Given the description of an element on the screen output the (x, y) to click on. 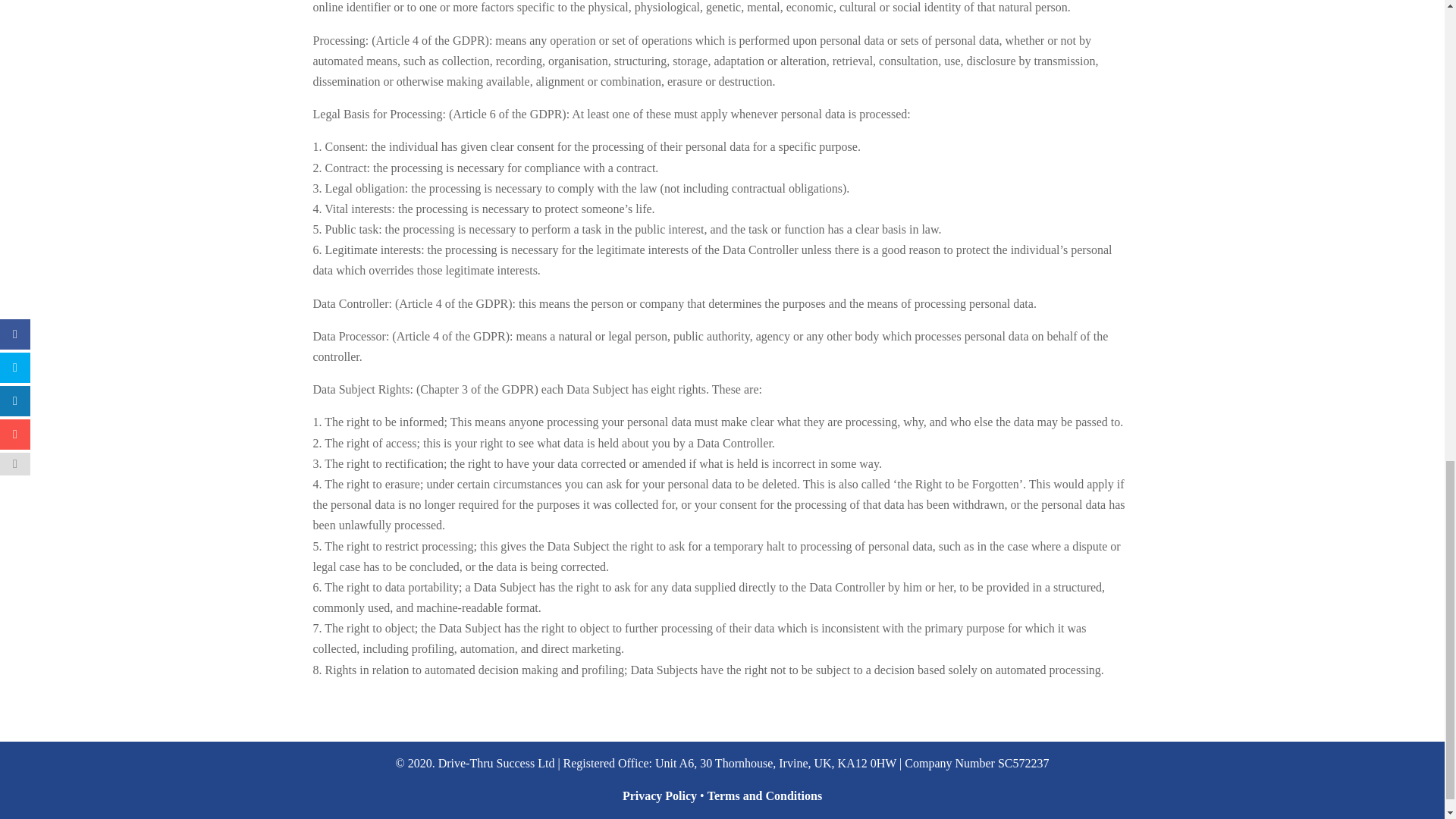
Terms and Conditions (764, 795)
Privacy Policy (660, 795)
